Given the description of an element on the screen output the (x, y) to click on. 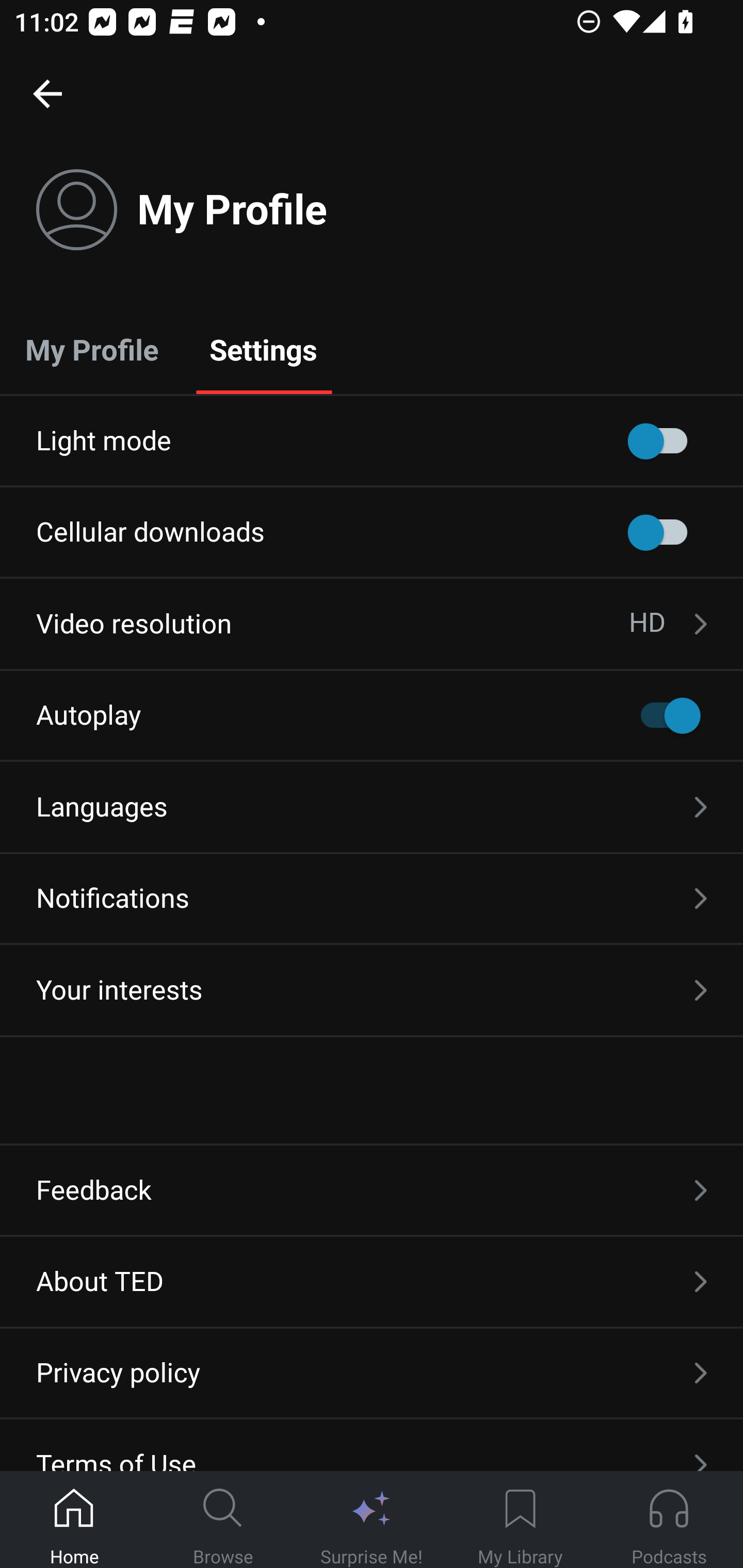
Home, back (47, 92)
My Profile (92, 348)
Settings (263, 348)
Video resolution HD (371, 623)
Languages (371, 806)
Notifications (371, 897)
Your interests (371, 989)
Feedback (371, 1190)
About TED (371, 1281)
Privacy policy (371, 1372)
Home (74, 1520)
Browse (222, 1520)
Surprise Me! (371, 1520)
My Library (519, 1520)
Podcasts (668, 1520)
